Given the description of an element on the screen output the (x, y) to click on. 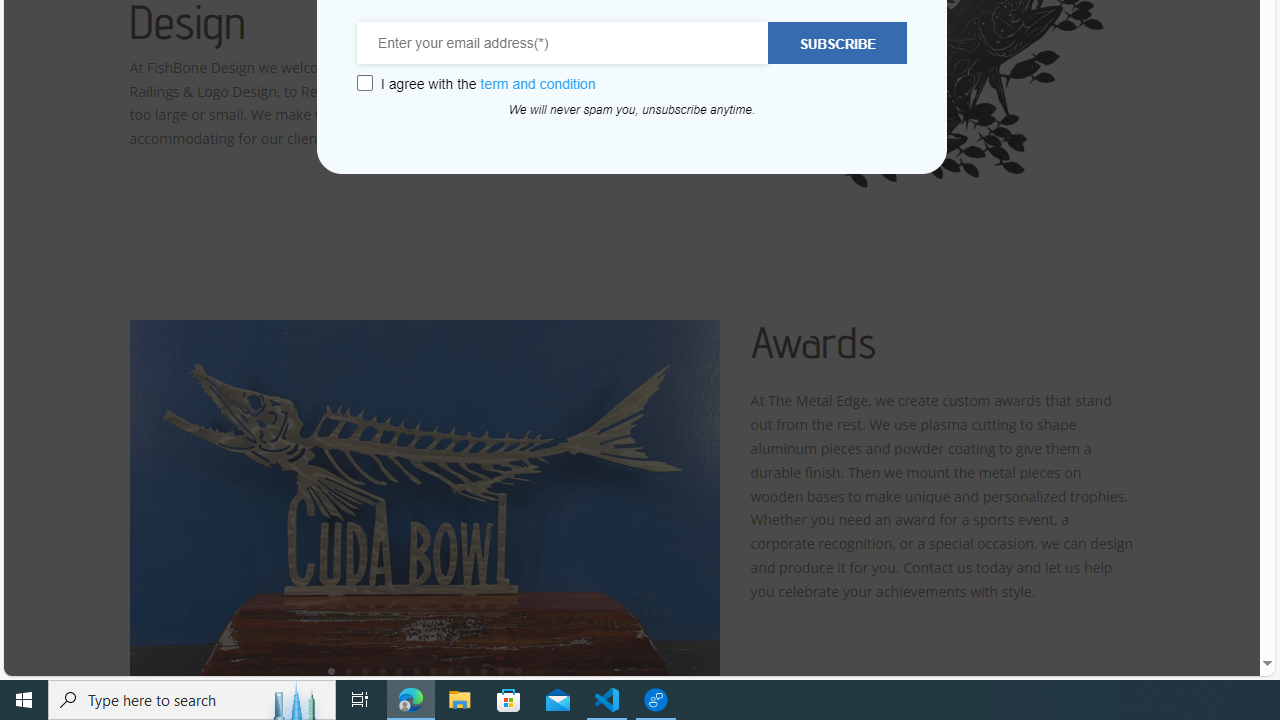
1 (331, 670)
6 (416, 670)
Enter your email address(*) (563, 43)
11 (501, 670)
5 (399, 670)
9 (467, 670)
3 (365, 670)
10 (484, 670)
12 (518, 670)
Class: wcb-gdpr-checkbox (364, 83)
4 (382, 670)
term and condition (538, 84)
7 (433, 670)
2 (348, 670)
8 (450, 670)
